Given the description of an element on the screen output the (x, y) to click on. 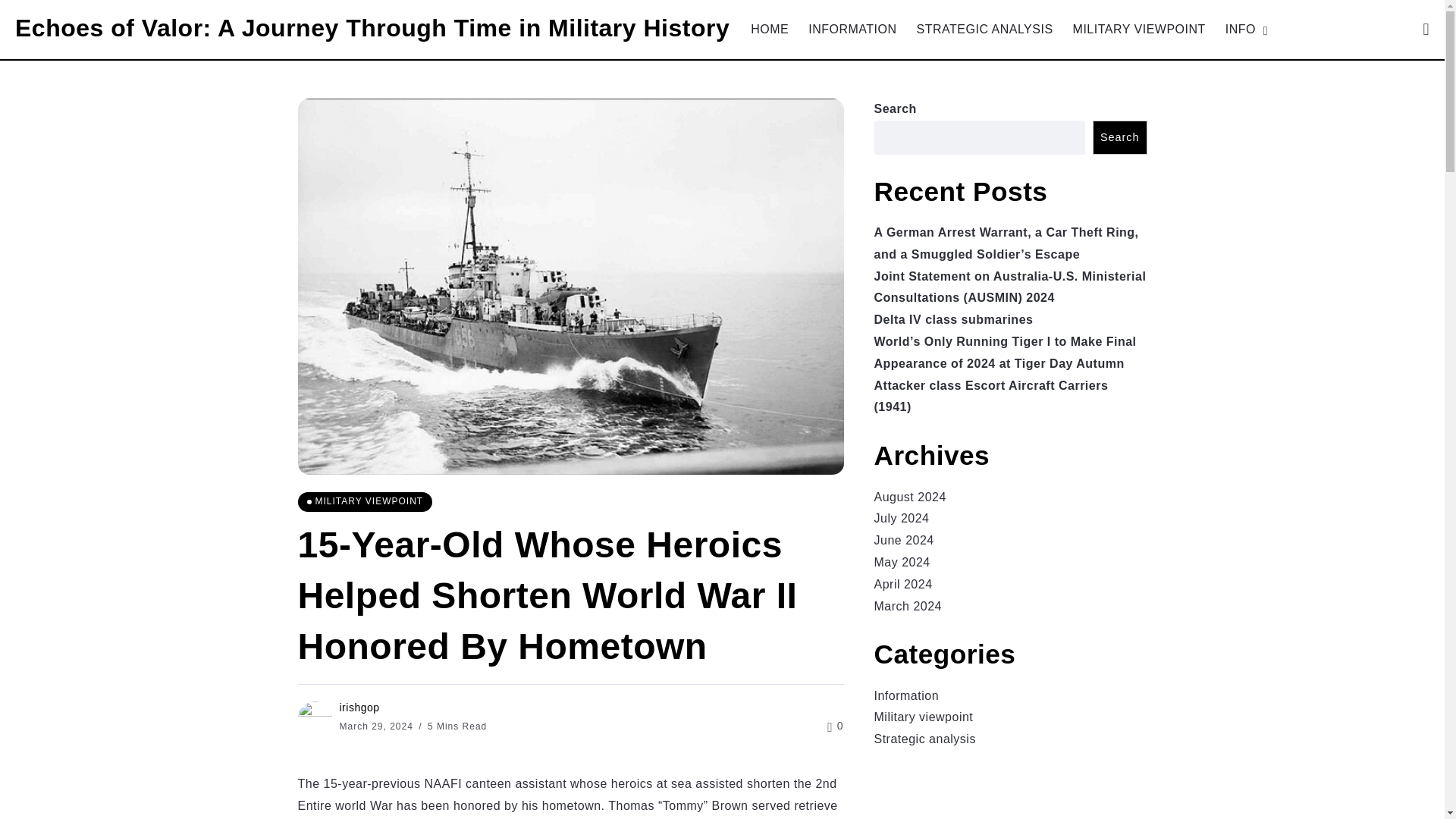
Echoes of Valor: A Journey Through Time in Military History (371, 27)
Military viewpoint (922, 716)
August 2024 (908, 496)
Military viewpoint (364, 501)
INFORMATION (852, 29)
April 2024 (902, 584)
INFO (1244, 29)
Search (1120, 137)
MILITARY VIEWPOINT (364, 501)
irishgop (359, 707)
